Given the description of an element on the screen output the (x, y) to click on. 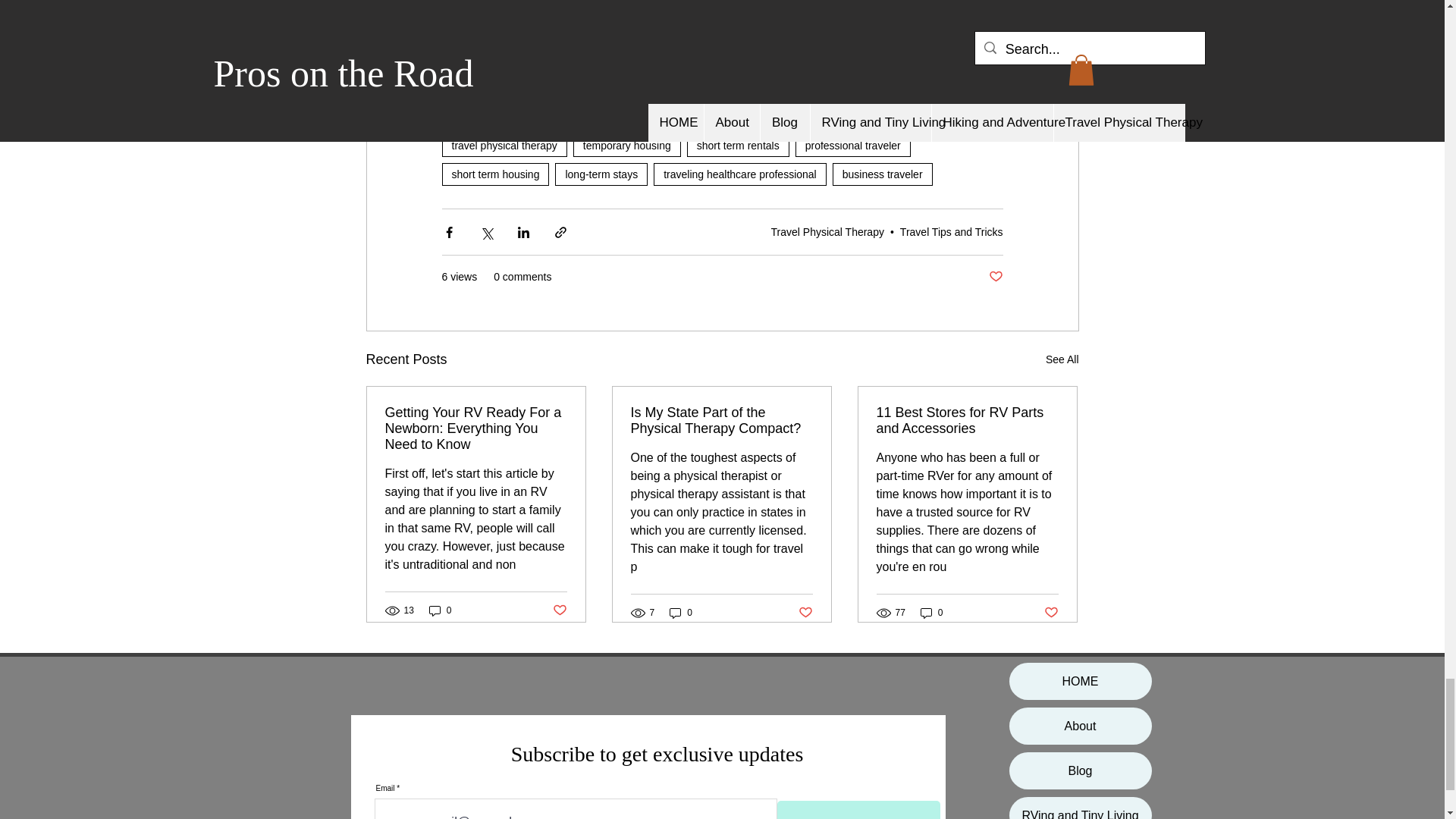
See All (1061, 359)
travel physical therapy (503, 145)
traveling healthcare professional (740, 173)
Travel Physical Therapy (827, 232)
long-term stays (600, 173)
temporary housing (627, 145)
Furnished Finder (767, 53)
Air BnB (871, 53)
Post not marked as liked (995, 277)
short term rentals (738, 145)
short term housing (494, 173)
business traveler (882, 173)
Travel Tips and Tricks (951, 232)
professional traveler (852, 145)
